Given the description of an element on the screen output the (x, y) to click on. 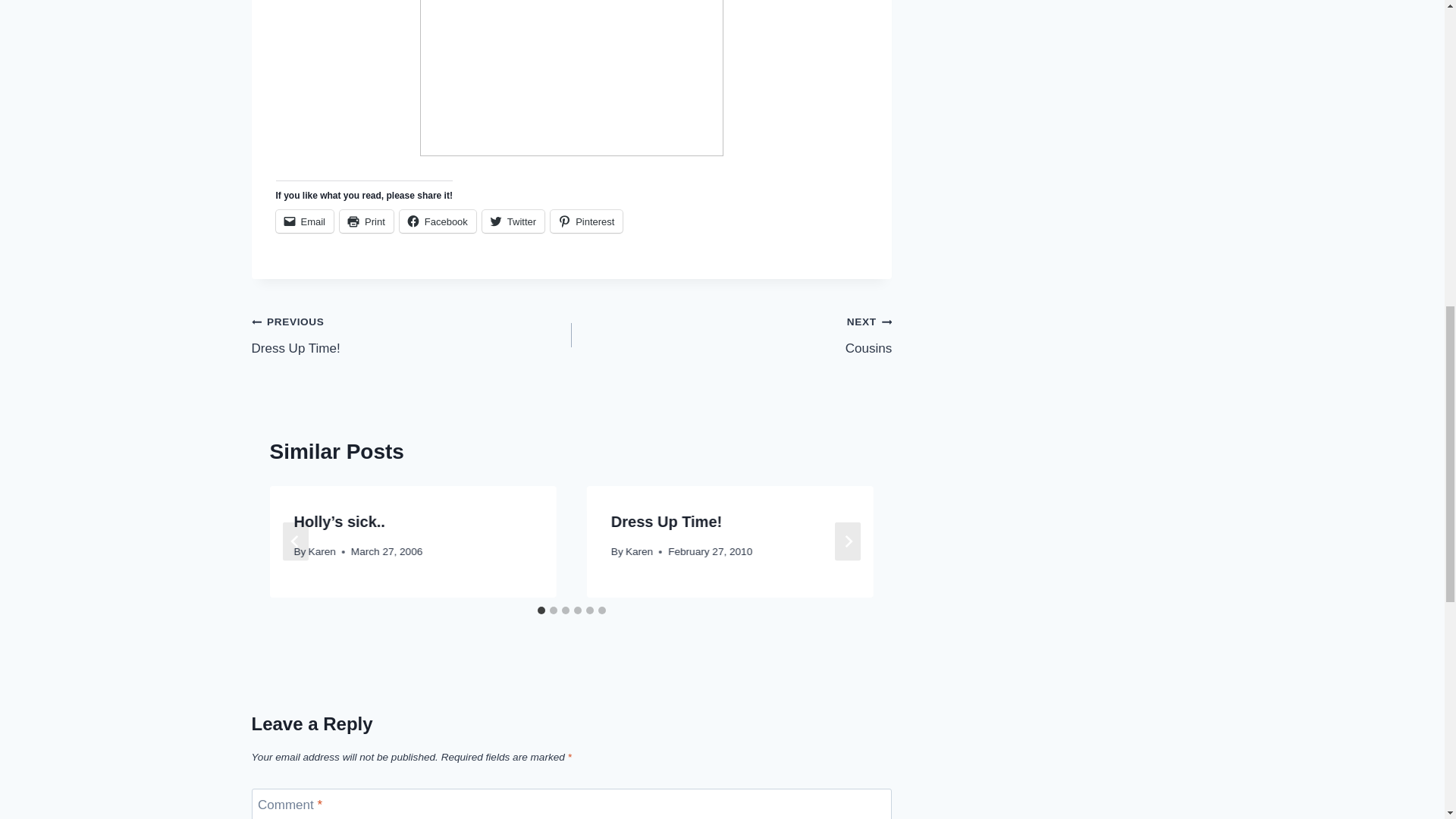
Click to share on Twitter (512, 220)
Click to share on Facebook (437, 220)
Click to email a link to a friend (305, 220)
Pinterest (586, 220)
Click to print (366, 220)
Click to share on Pinterest (586, 220)
Print (731, 334)
Email (366, 220)
